Given the description of an element on the screen output the (x, y) to click on. 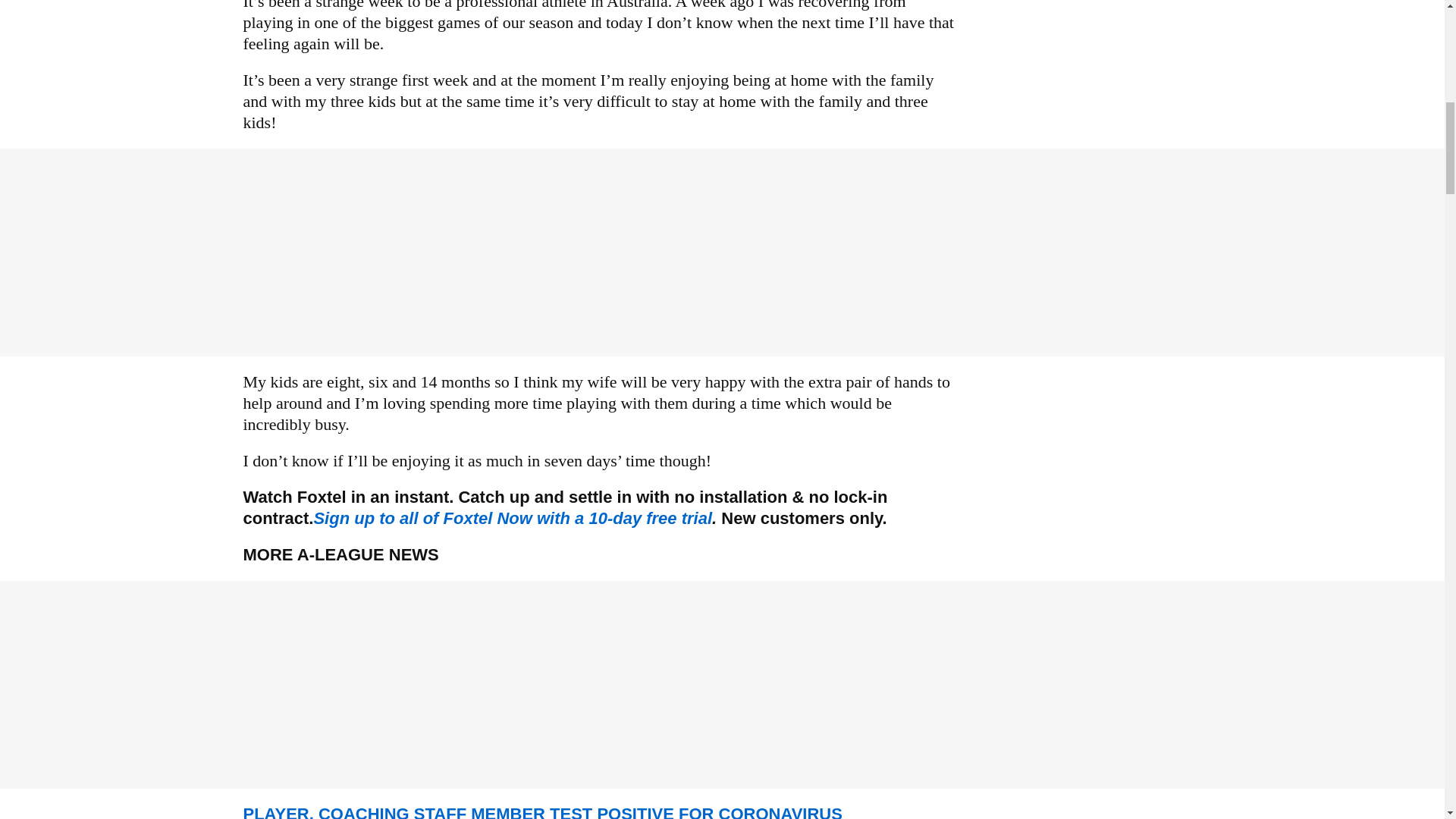
Sign up to all of Foxtel Now with a 10-day free trial (512, 517)
www.foxtel.com.au (512, 517)
PLAYER, COACHING STAFF MEMBER TEST POSITIVE FOR CORONAVIRUS (542, 811)
